Given the description of an element on the screen output the (x, y) to click on. 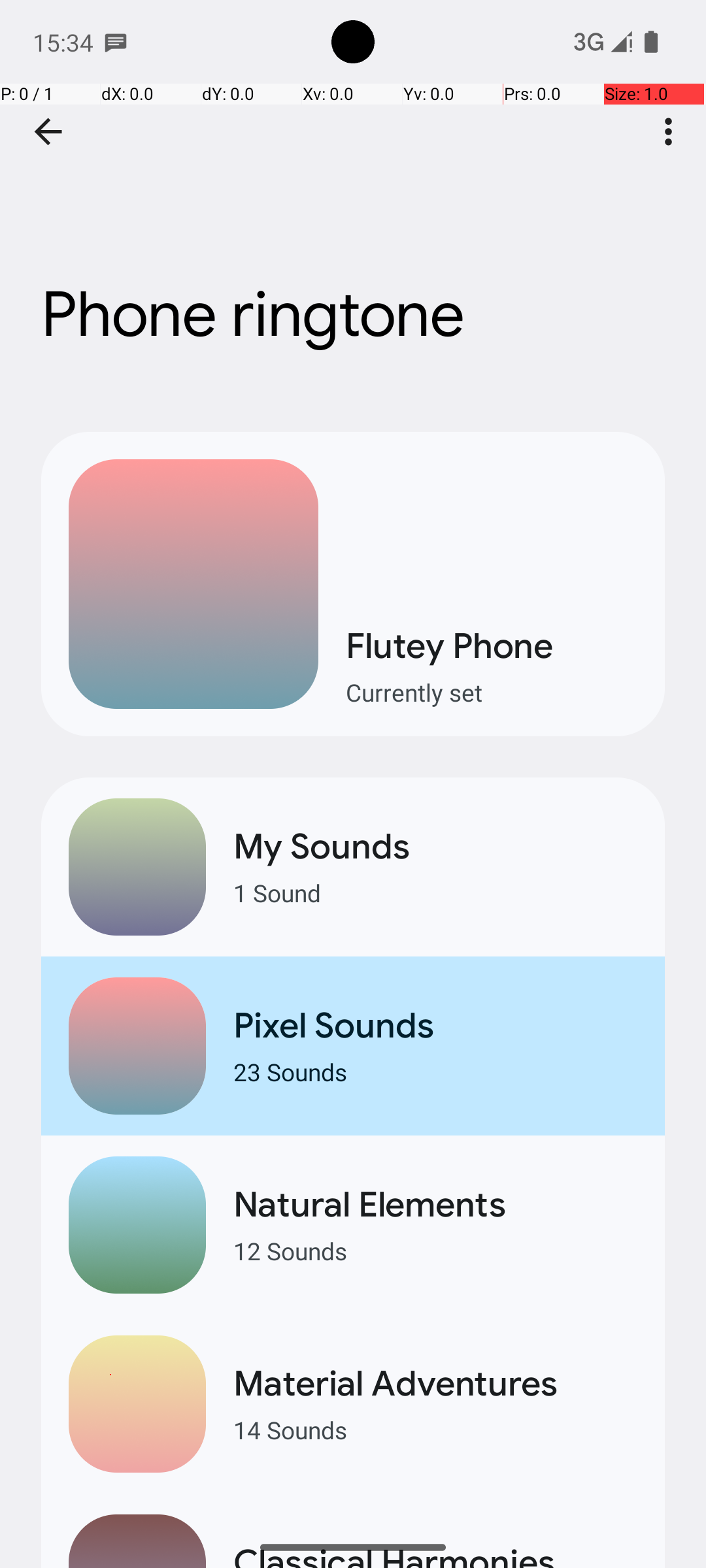
Phone ringtone Element type: android.widget.FrameLayout (353, 195)
Flutey Phone Element type: android.widget.TextView (491, 645)
Currently set Element type: android.widget.TextView (491, 691)
My Sounds Element type: android.widget.TextView (435, 846)
1 Sound Element type: android.widget.TextView (435, 892)
Pixel Sounds Element type: android.widget.TextView (435, 1025)
23 Sounds Element type: android.widget.TextView (435, 1071)
Natural Elements Element type: android.widget.TextView (435, 1204)
12 Sounds Element type: android.widget.TextView (435, 1250)
Material Adventures Element type: android.widget.TextView (435, 1383)
14 Sounds Element type: android.widget.TextView (435, 1429)
Classical Harmonies Element type: android.widget.TextView (435, 1554)
